Given the description of an element on the screen output the (x, y) to click on. 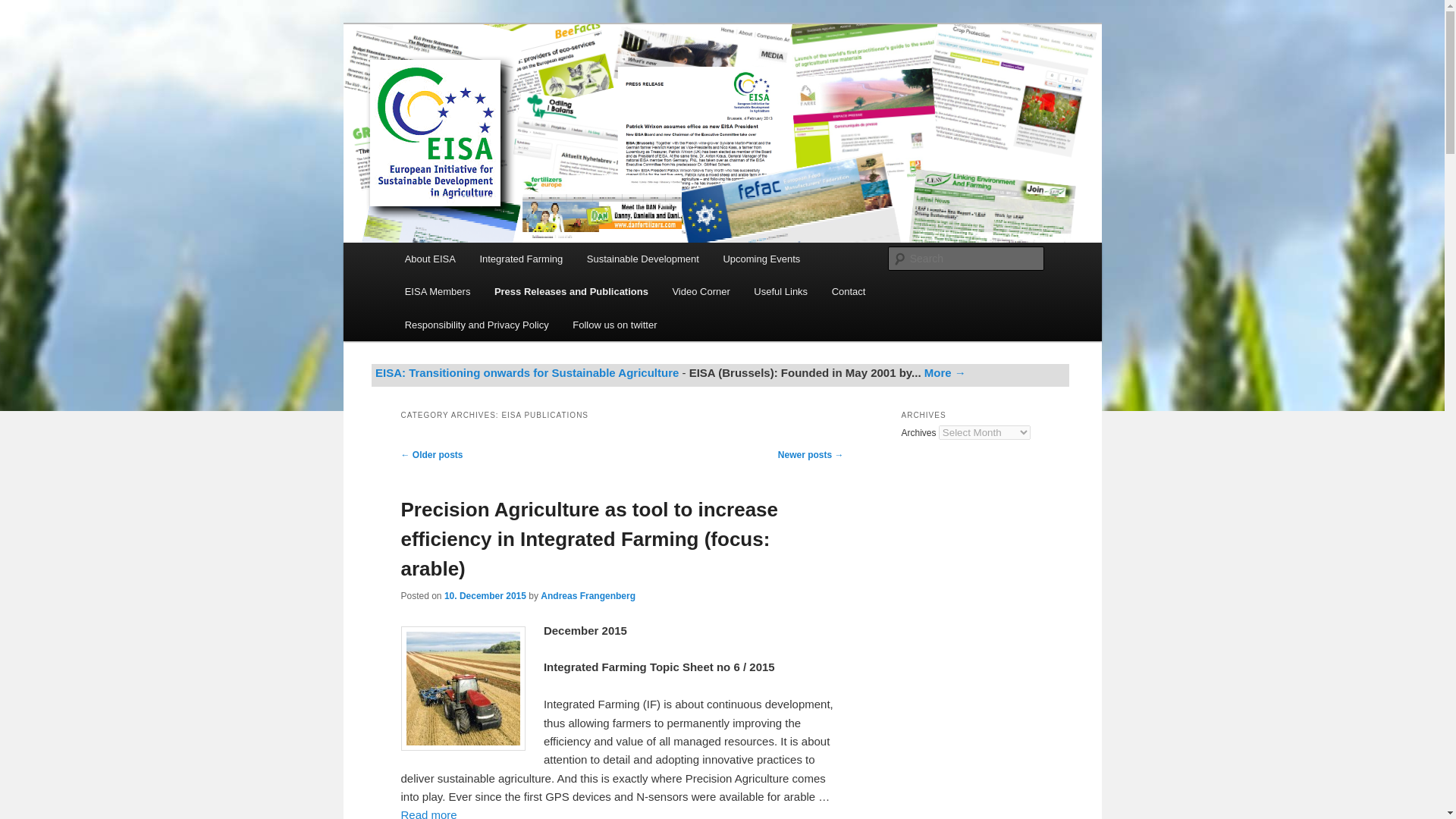
Press Releases and Publications (571, 291)
Sustainable Development (643, 258)
Contact (848, 291)
EISA e.V. (448, 78)
EISA: Transitioning onwards for Sustainable Agriculture (526, 372)
Responsibility and Privacy Policy (476, 324)
Useful Links (780, 291)
Integrated Farming (521, 258)
Skip to secondary content (479, 261)
Video Corner (701, 291)
